Given the description of an element on the screen output the (x, y) to click on. 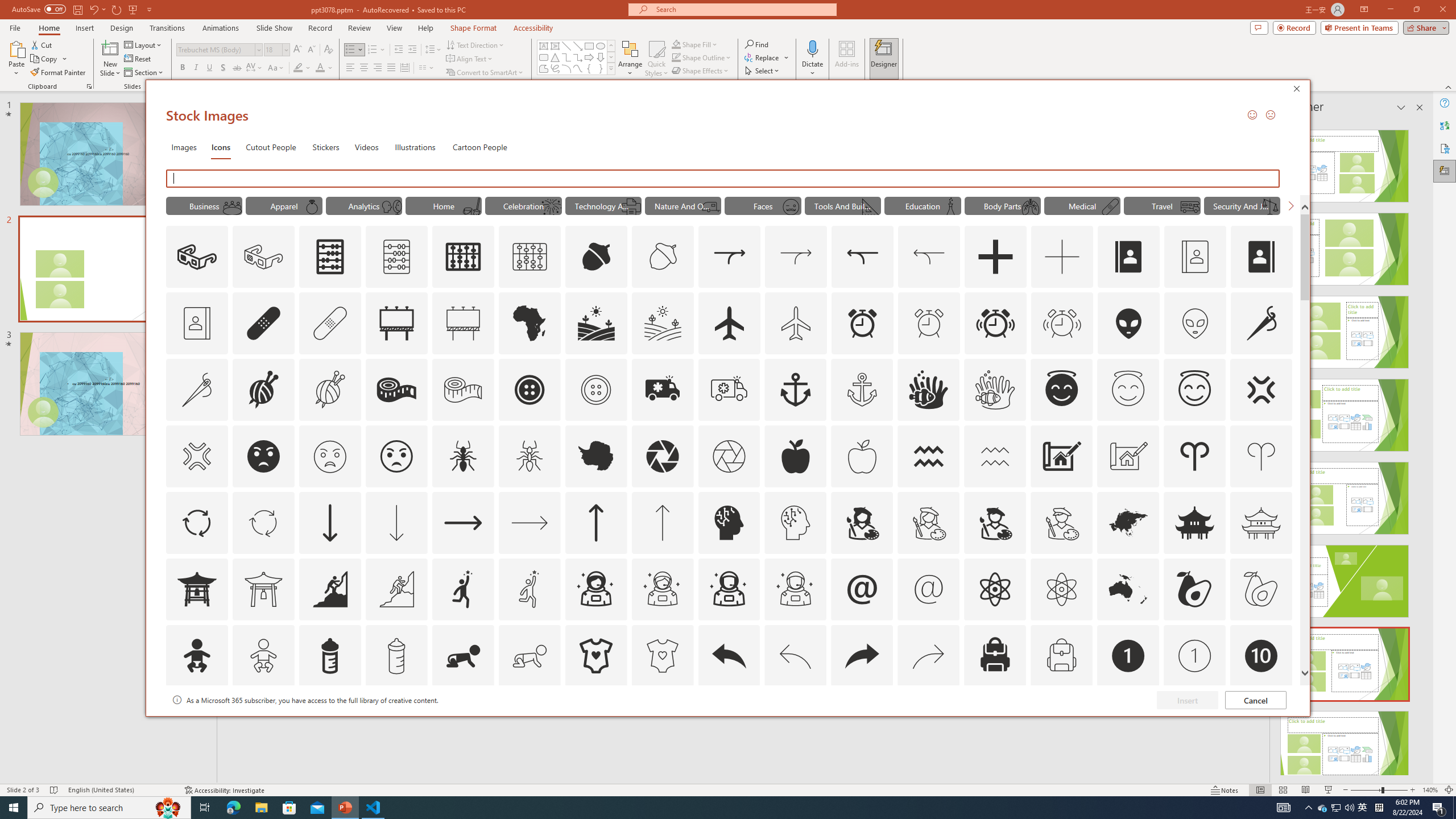
"Medical" Icons. (1082, 205)
AutomationID: Icons_Architecture_M (1128, 455)
AutomationID: Icons_Fireworks_M (551, 206)
Font Color Red (320, 67)
AutomationID: Icons_Add (995, 256)
AutomationID: Icons_Aspiration1_M (529, 588)
Text Direction (476, 44)
AutomationID: Icons_AlterationsTailoring1_M (329, 389)
AutomationID: _134_Angel_Face_A (1061, 388)
